Given the description of an element on the screen output the (x, y) to click on. 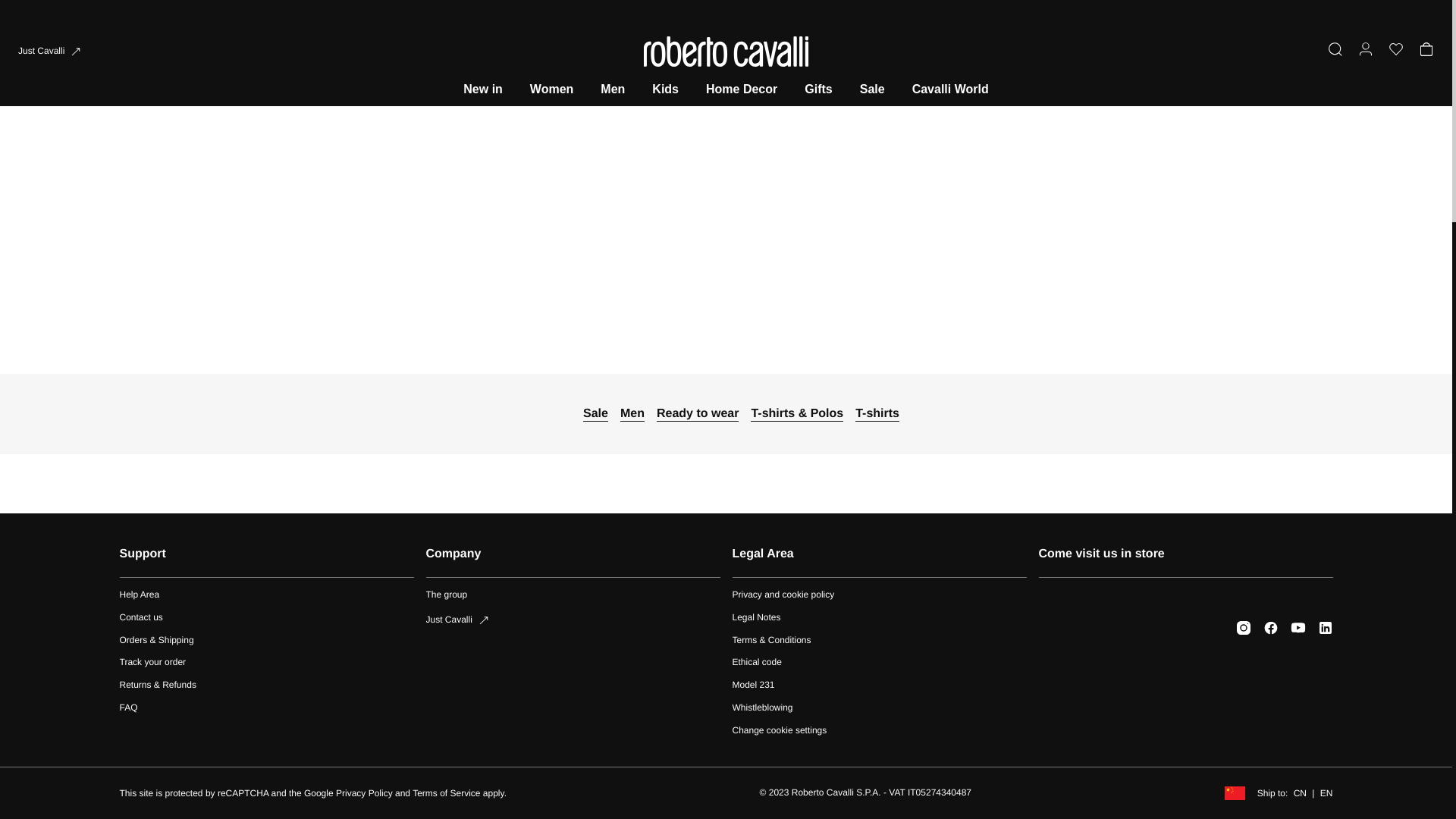
Instagram (1243, 627)
FAQ (266, 707)
Privacy and cookie policy (879, 594)
Change cookie settings (879, 730)
Ethical code (879, 662)
Legal Notes (879, 617)
Model 231 (879, 685)
Contact us (573, 603)
Help Area (266, 617)
